Given the description of an element on the screen output the (x, y) to click on. 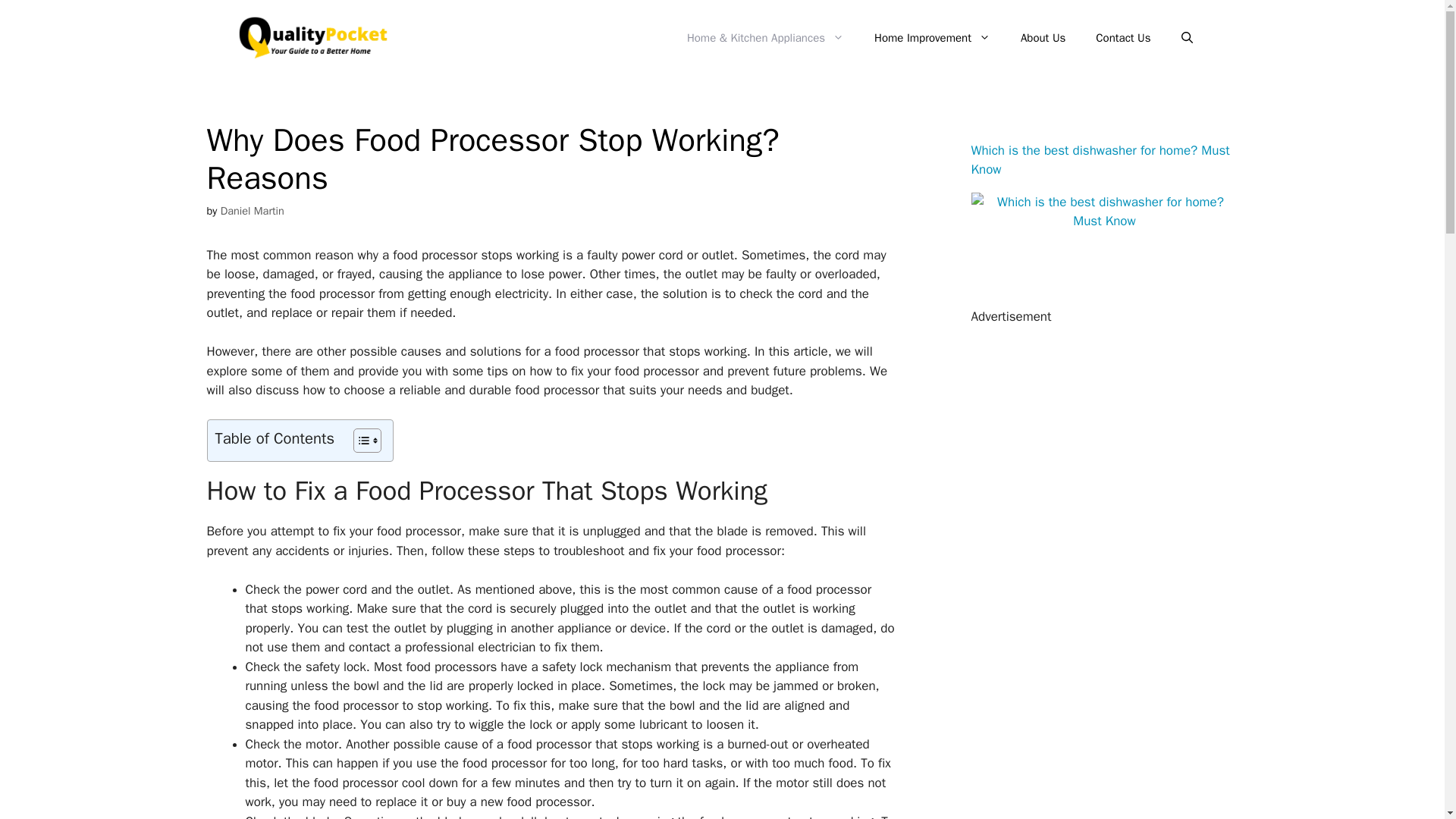
Daniel Martin (252, 210)
Which is the best dishwasher for home? Must Know (1104, 220)
About Us (1043, 37)
Contact Us (1123, 37)
View all posts by Daniel Martin (252, 210)
Which is the best dishwasher for home? Must Know (1099, 160)
Home Improvement (932, 37)
